Given the description of an element on the screen output the (x, y) to click on. 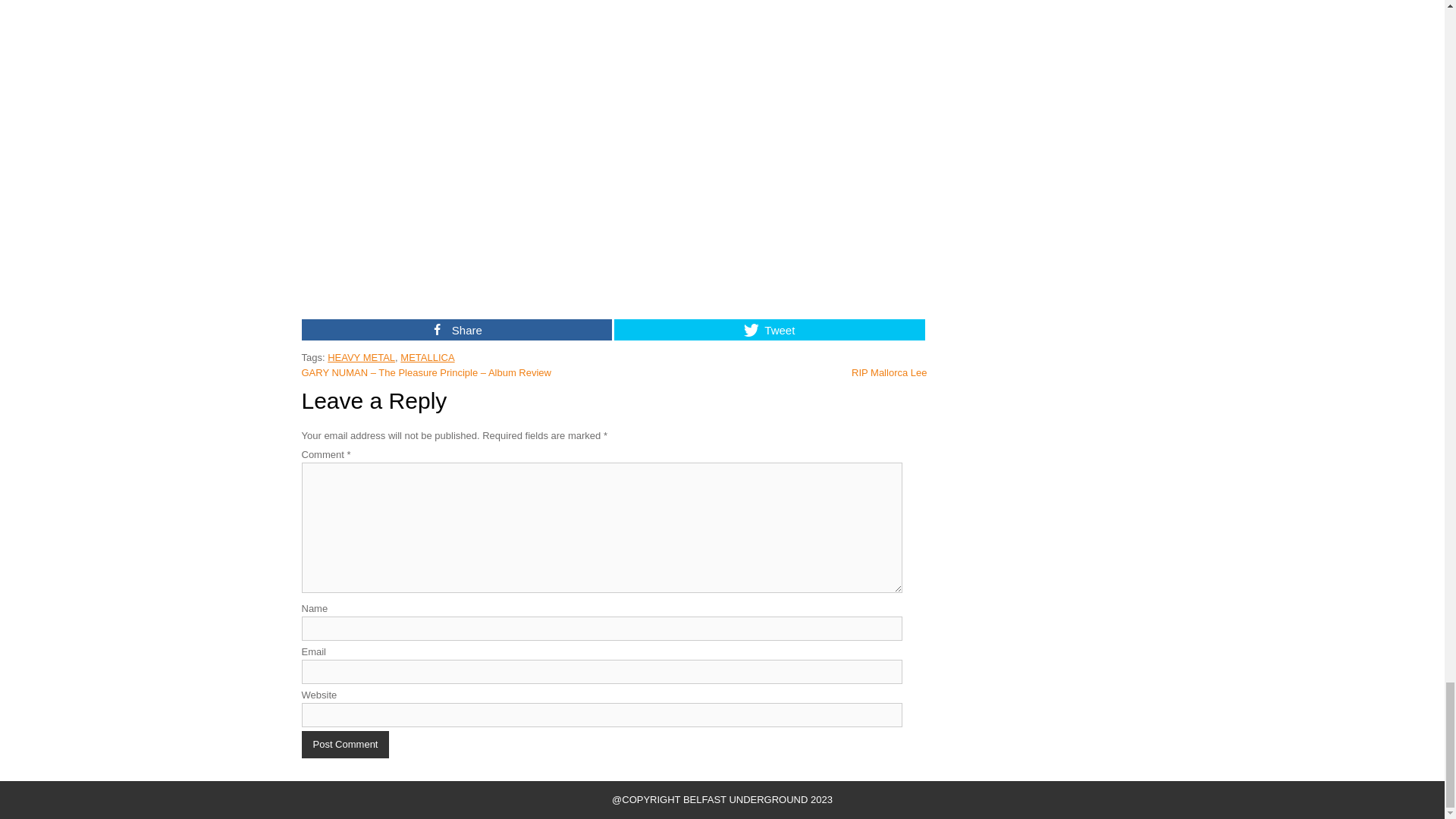
Post Comment (345, 744)
